Given the description of an element on the screen output the (x, y) to click on. 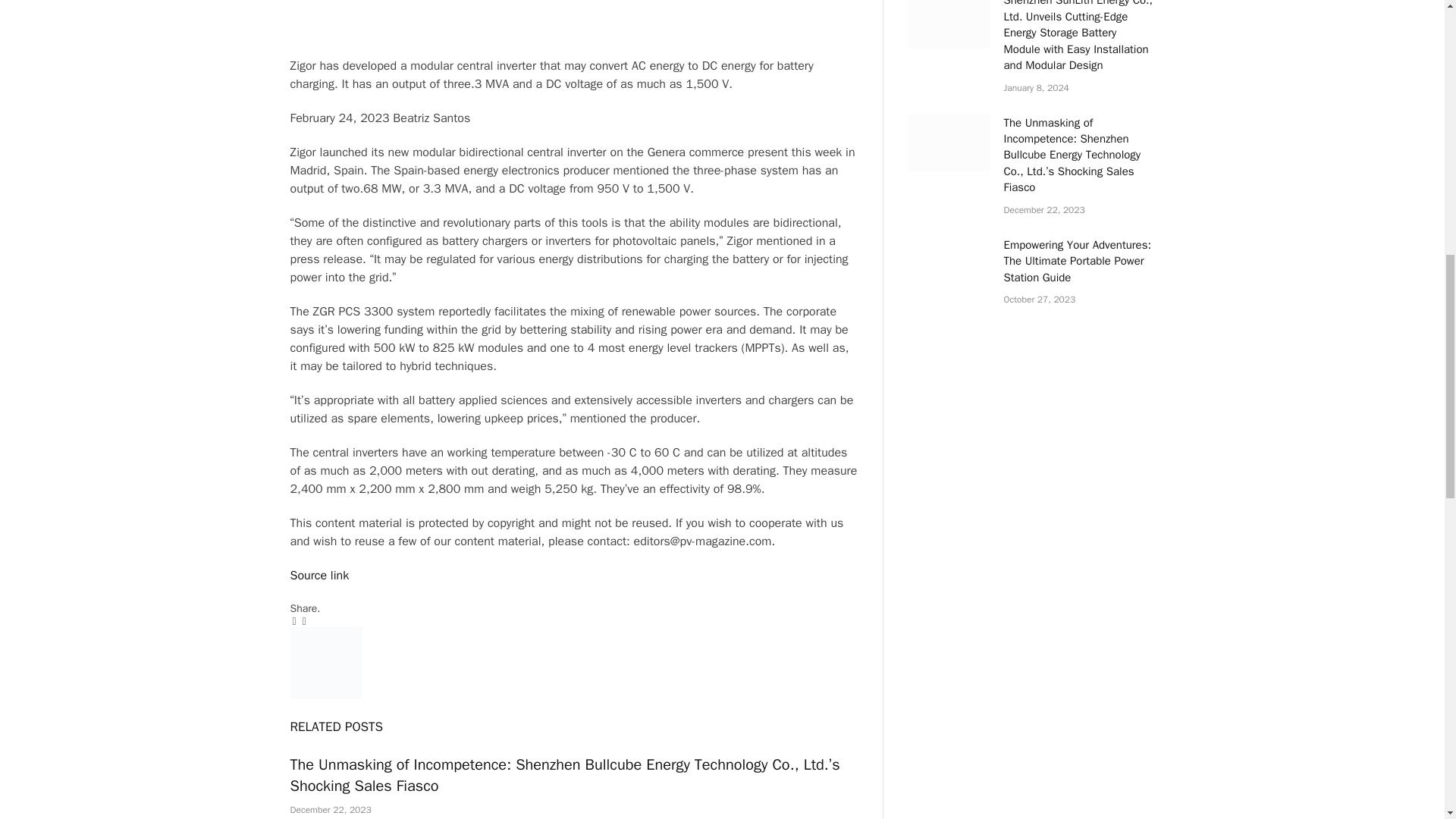
LinkedIn (573, 17)
Pinterest (573, 32)
